Given the description of an element on the screen output the (x, y) to click on. 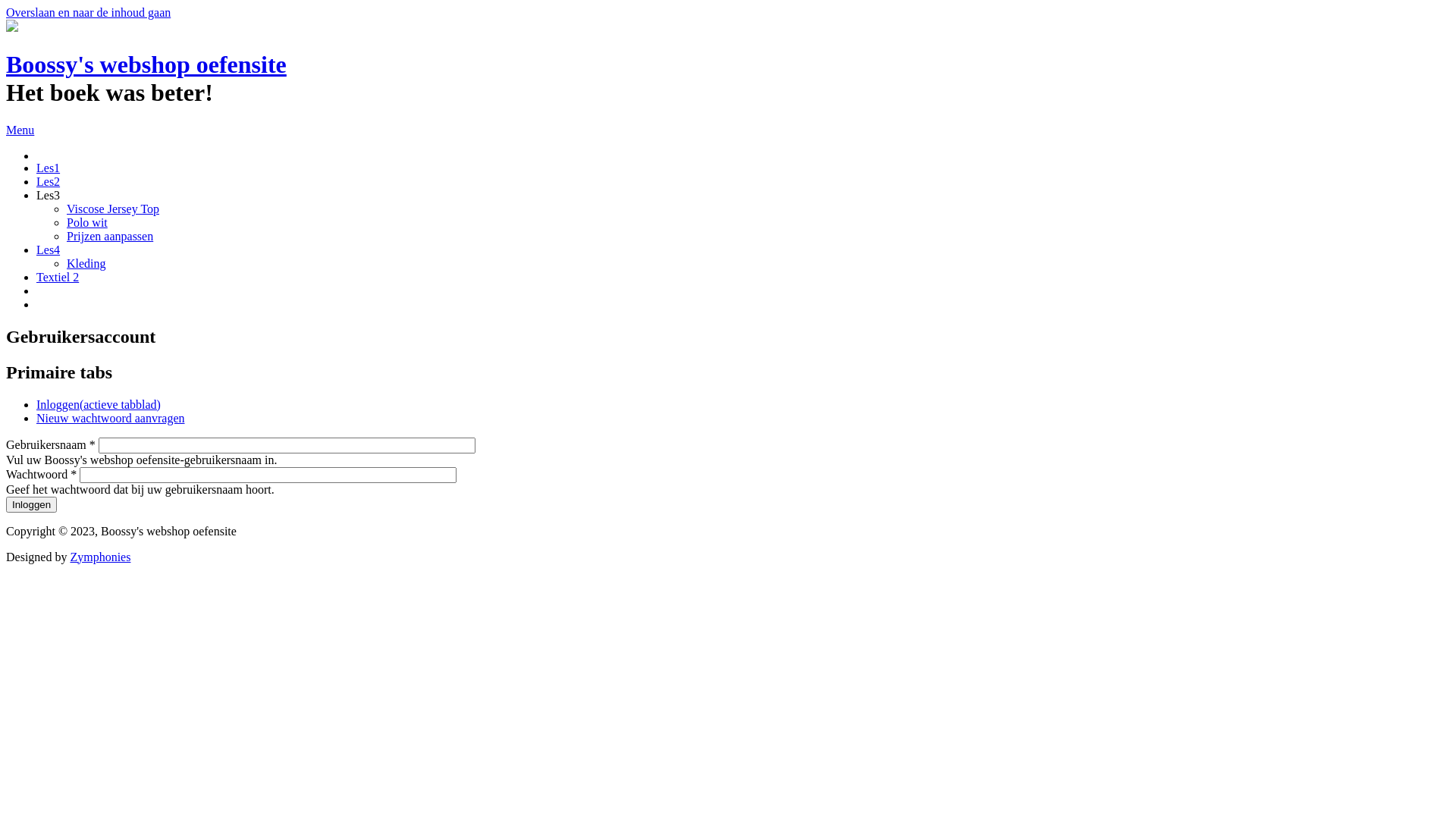
Les1 Element type: text (47, 167)
Zymphonies Element type: text (99, 556)
Les2 Element type: text (47, 181)
Polo wit Element type: text (86, 222)
Les4 Element type: text (47, 249)
Overslaan en naar de inhoud gaan Element type: text (88, 12)
Textiel 2 Element type: text (57, 276)
Nieuw wachtwoord aanvragen Element type: text (110, 417)
Prijzen aanpassen Element type: text (109, 235)
Kleding Element type: text (86, 263)
Menu Element type: text (20, 129)
Boossy's webshop oefensite Element type: text (146, 64)
Inloggen Element type: text (31, 504)
Viscose Jersey Top Element type: text (112, 208)
Inloggen(actieve tabblad) Element type: text (98, 404)
Home Element type: hover (12, 27)
Les3 Element type: text (47, 194)
